Given the description of an element on the screen output the (x, y) to click on. 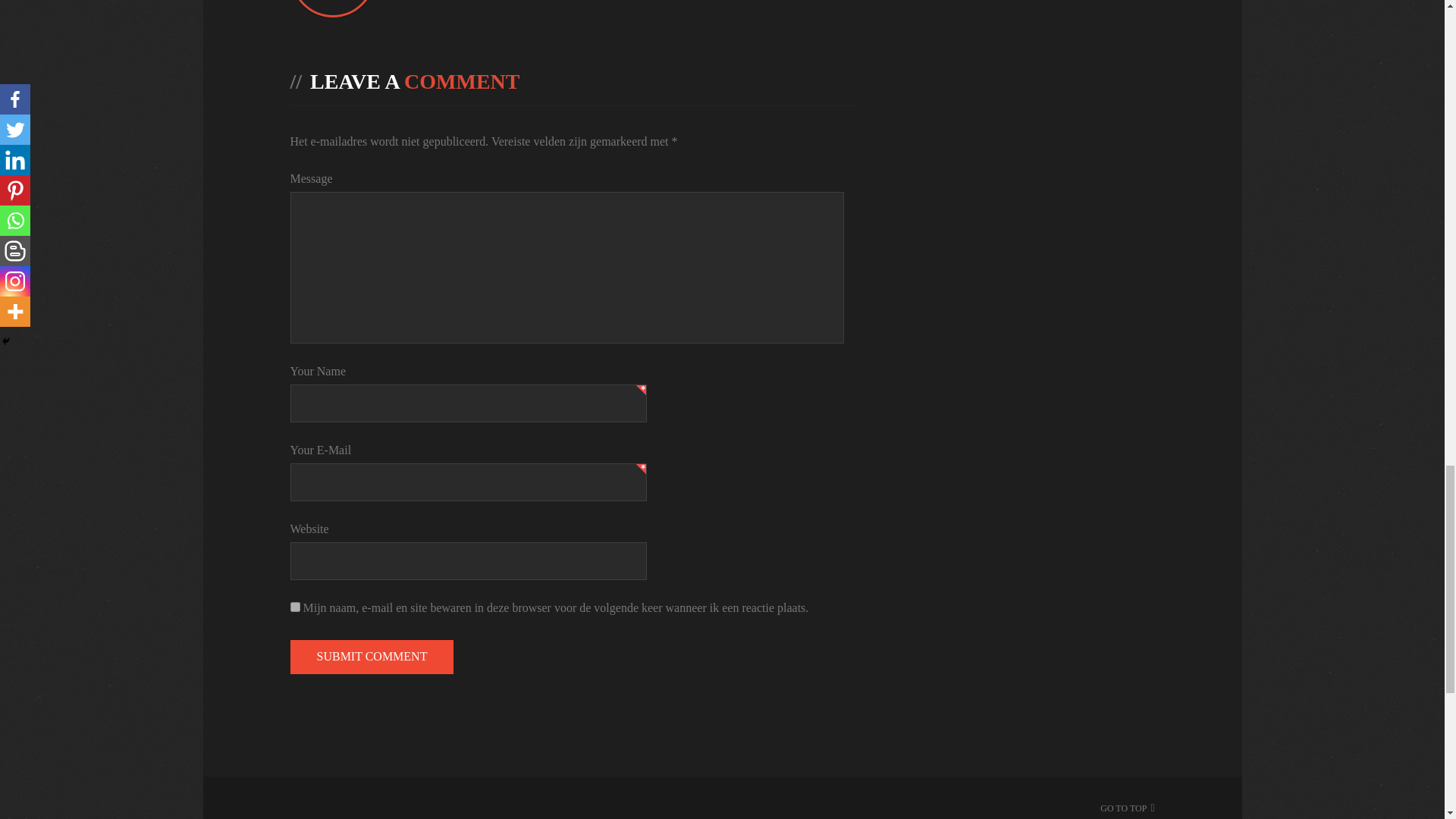
GO TO TOP (1123, 808)
Submit Comment (370, 656)
yes (294, 606)
Submit Comment (370, 656)
